Given the description of an element on the screen output the (x, y) to click on. 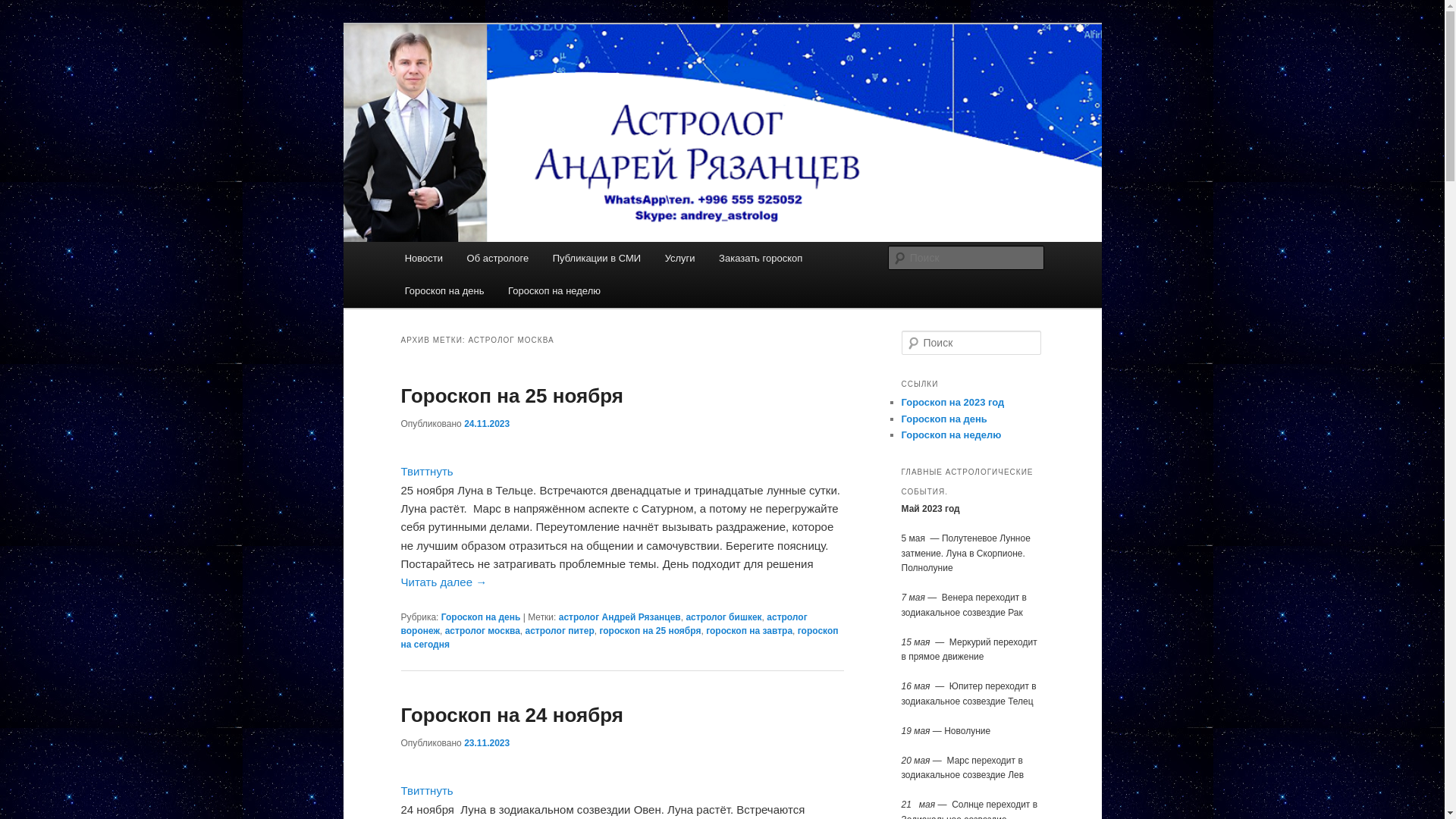
24.11.2023 Element type: text (486, 423)
23.11.2023 Element type: text (486, 742)
